Given the description of an element on the screen output the (x, y) to click on. 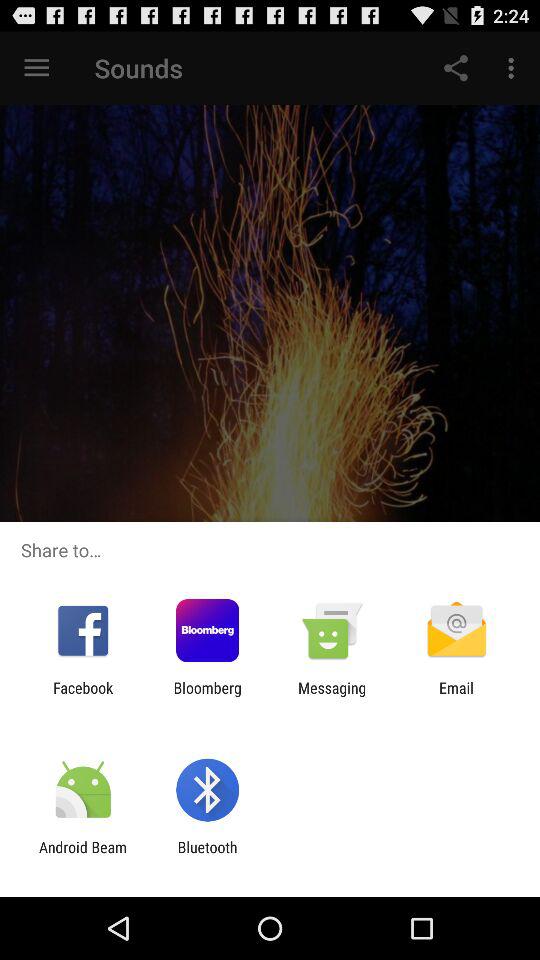
swipe until the messaging item (332, 696)
